Given the description of an element on the screen output the (x, y) to click on. 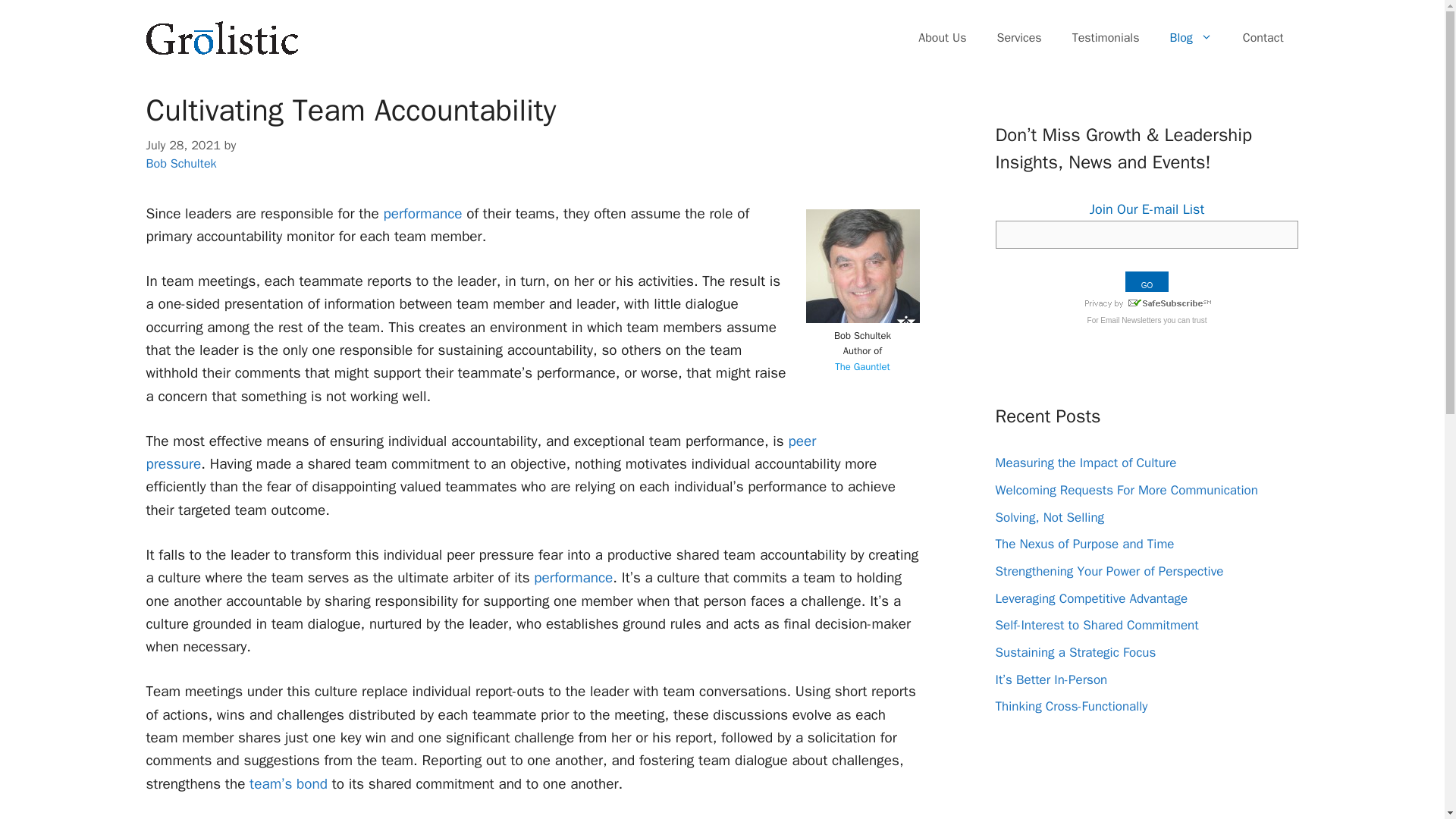
About Us (941, 37)
GO (1147, 281)
performance (420, 213)
Testimonials (1105, 37)
Bob Schultek (180, 163)
performance (573, 577)
Blog (1190, 37)
Email Newsletters (1130, 320)
GO (1147, 281)
Services (1019, 37)
